Given the description of an element on the screen output the (x, y) to click on. 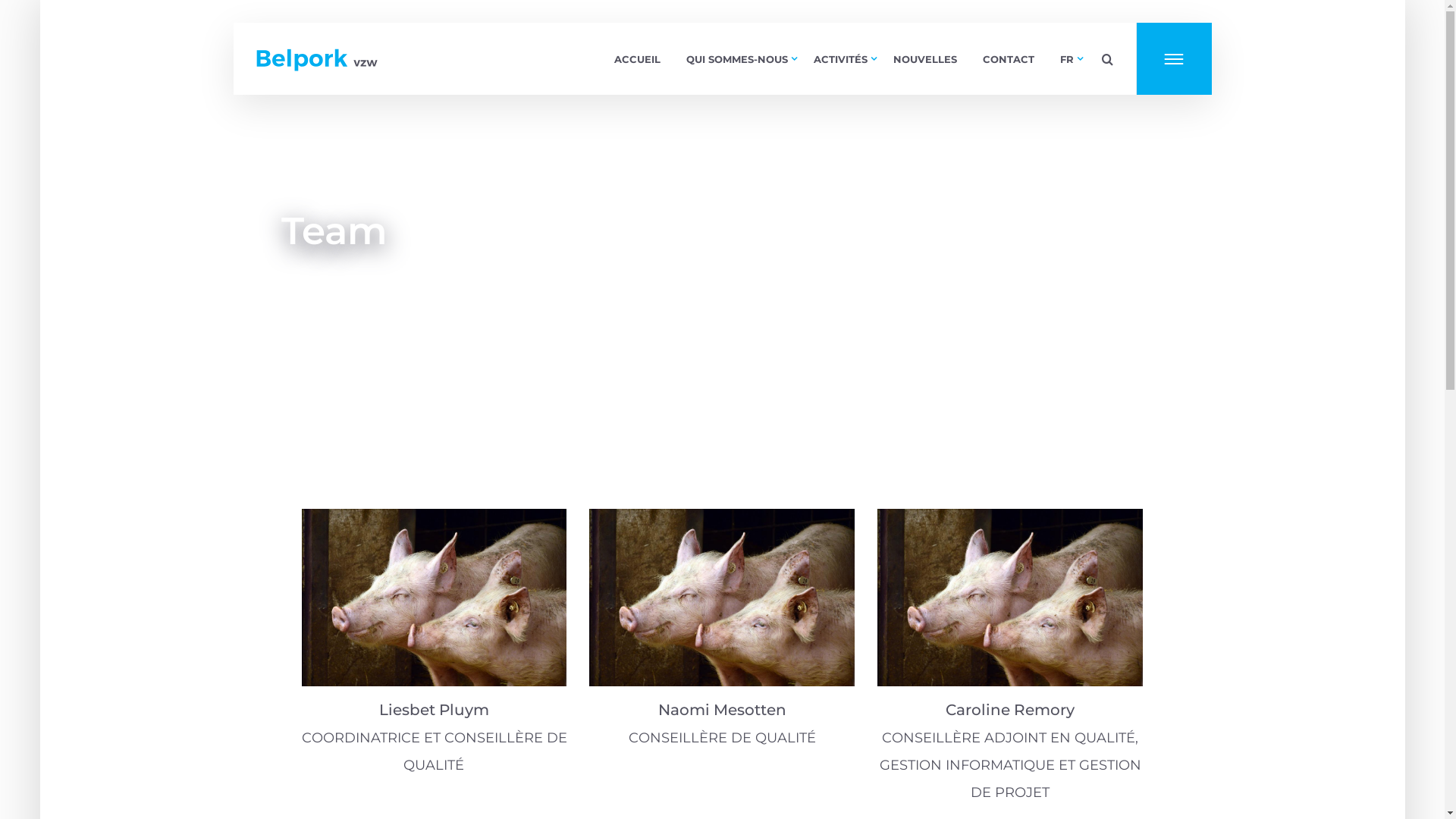
ACCUEIL Element type: text (637, 58)
QUI SOMMES-NOUS Element type: text (736, 58)
FR Element type: text (1066, 58)
CONTACT Element type: text (1008, 58)
NOUVELLES Element type: text (925, 58)
